Given the description of an element on the screen output the (x, y) to click on. 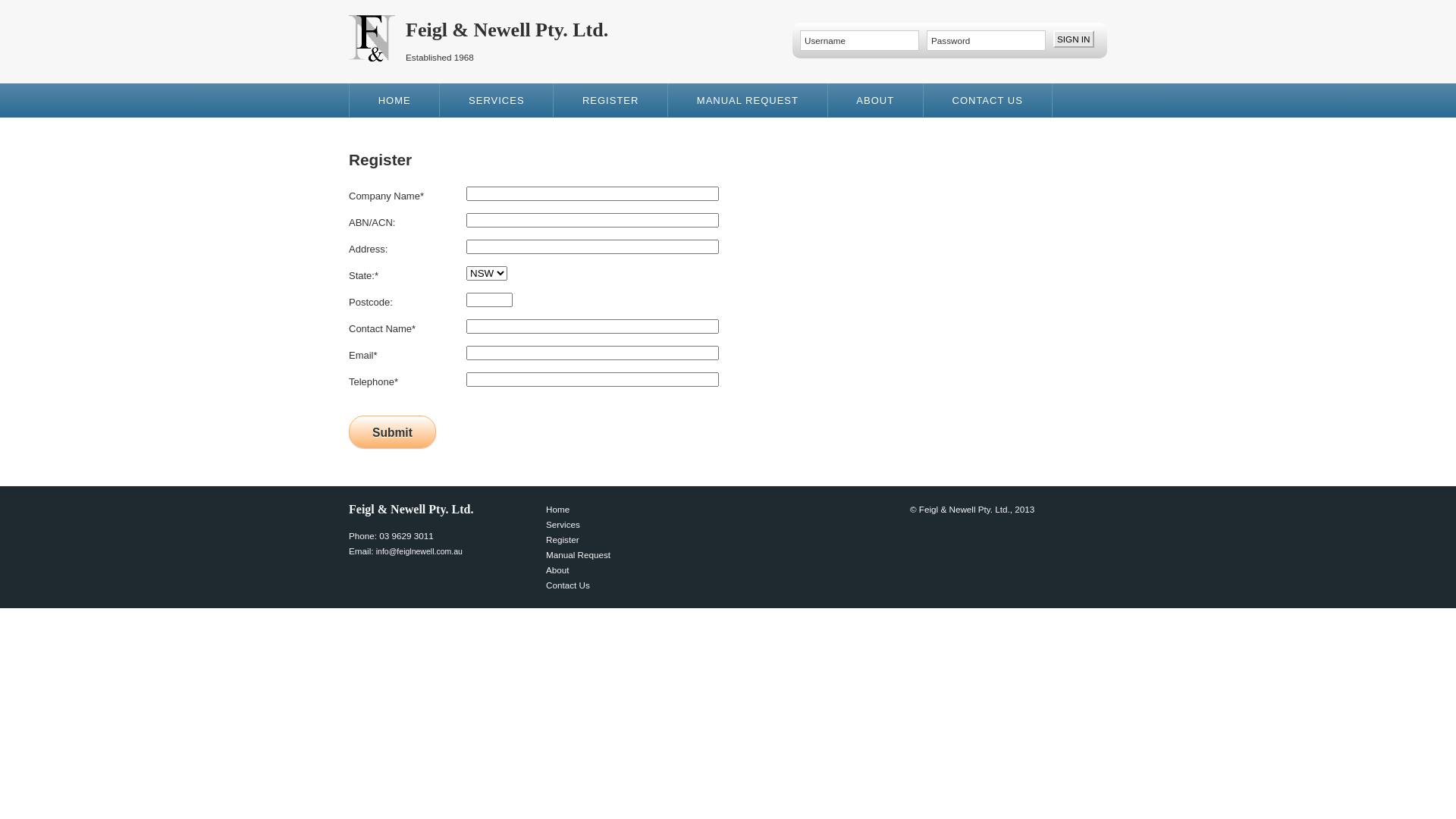
Manual Request Element type: text (578, 554)
SERVICES Element type: text (496, 99)
ABOUT Element type: text (875, 99)
HOME Element type: text (394, 99)
MANUAL REQUEST Element type: text (748, 99)
info@feiglnewell.com.au Element type: text (419, 550)
Home Element type: text (557, 509)
About Element type: text (557, 569)
Services Element type: text (563, 524)
Contact Us Element type: text (567, 584)
CONTACT US Element type: text (987, 99)
Username Element type: text (859, 40)
REGISTER Element type: text (610, 99)
Submit Element type: text (392, 431)
Register Element type: text (562, 539)
Sign in Element type: text (1073, 38)
